Given the description of an element on the screen output the (x, y) to click on. 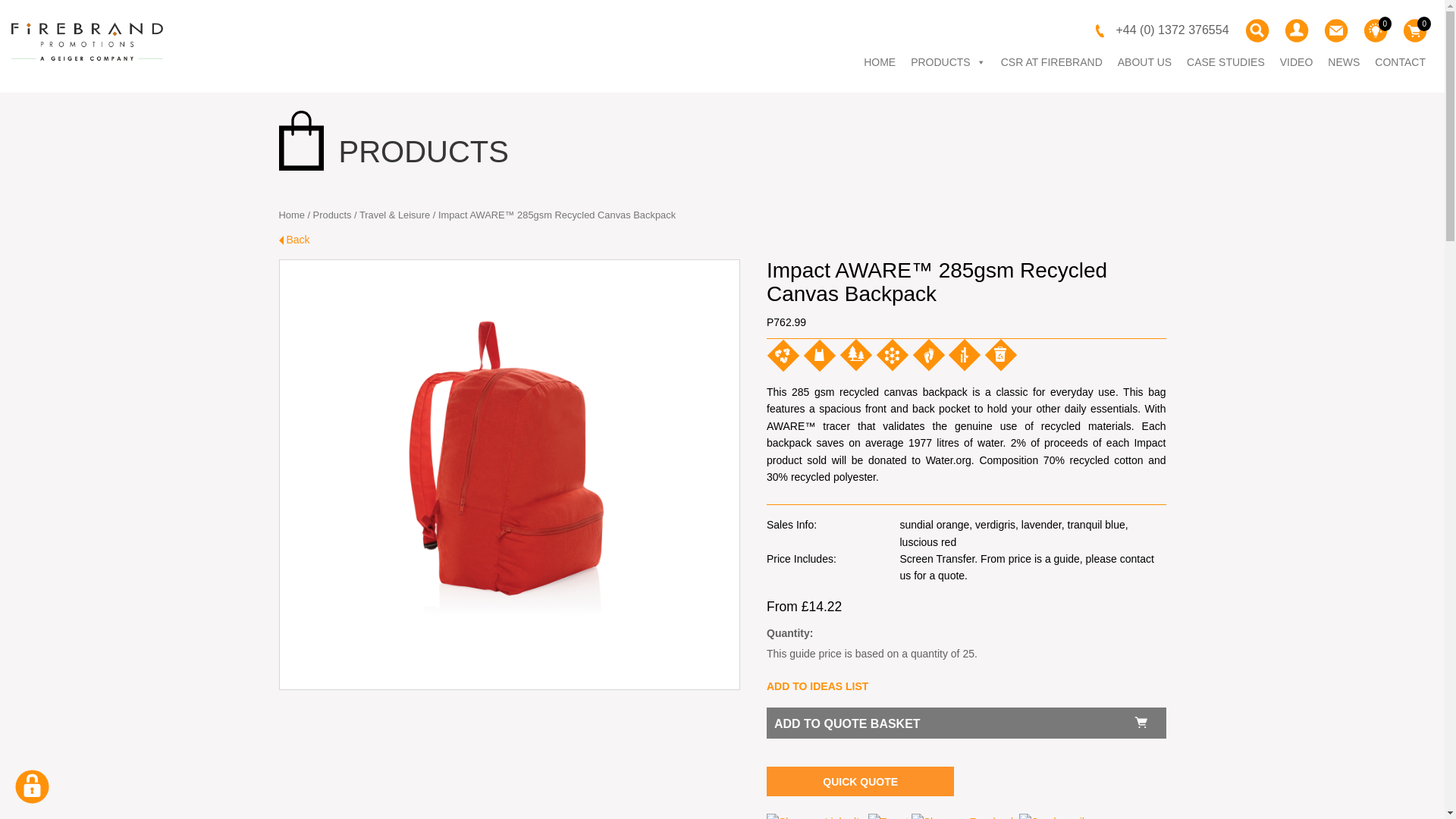
Login (1296, 30)
Firebrand Promotions (87, 41)
Traceability (892, 355)
Known Carbon Emissions (928, 355)
0 (1374, 30)
PRODUCTS (947, 61)
Reusability (819, 355)
Recycled Materials (783, 355)
0 (1414, 30)
Enquiry Basket (1414, 30)
Social Contribution (856, 355)
Ideas List (1374, 30)
Natural Materials (964, 355)
HOME (879, 61)
